Given the description of an element on the screen output the (x, y) to click on. 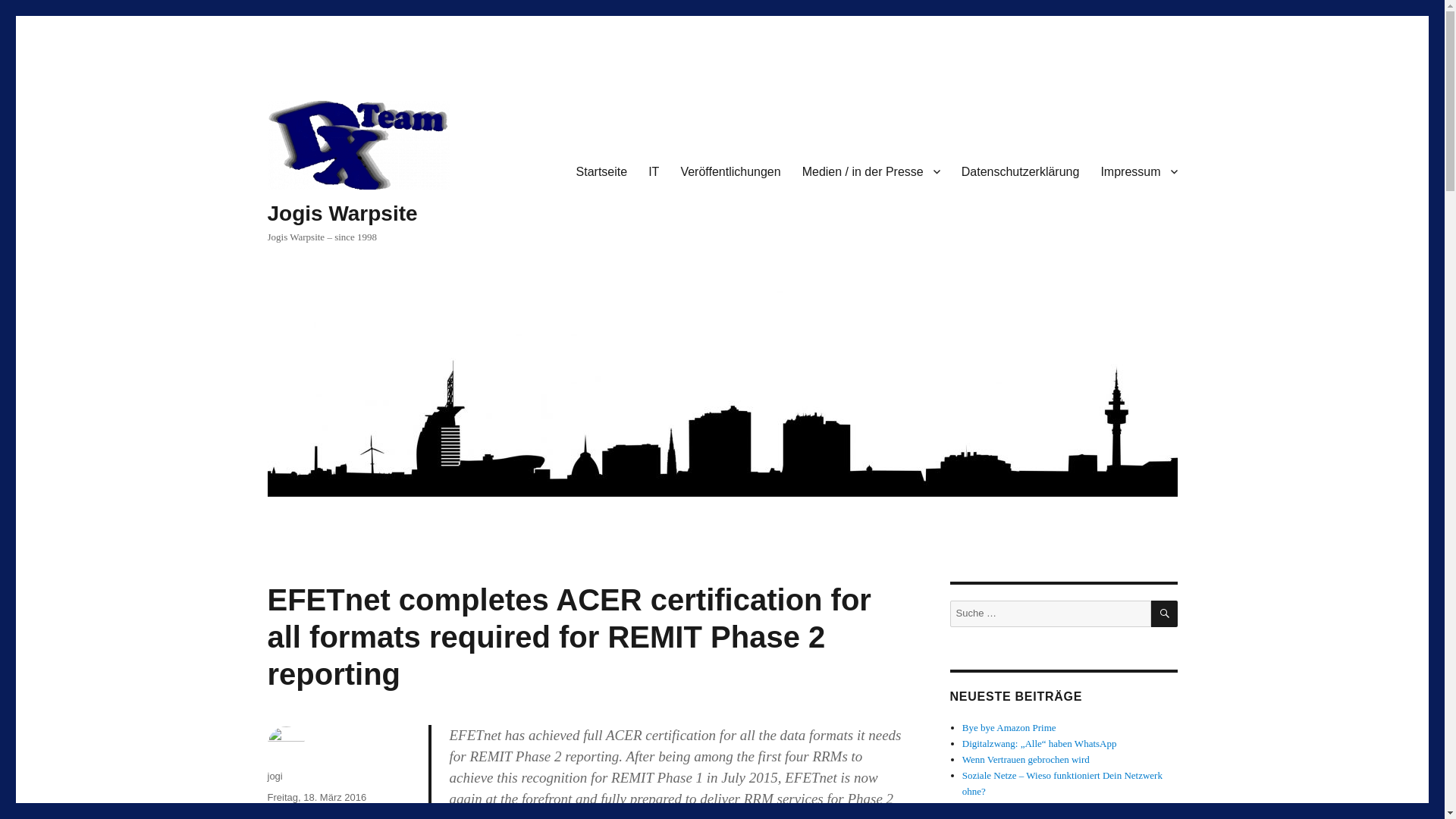
Software Entwicklung (313, 816)
Impressum (1138, 171)
Bye bye Amazon Prime (1009, 727)
Wenn Vertrauen gebrochen wird (1025, 758)
jogi (274, 776)
SUCHEN (1164, 613)
Startseite (602, 171)
Jogis Warpsite (341, 213)
IT (653, 171)
